Given the description of an element on the screen output the (x, y) to click on. 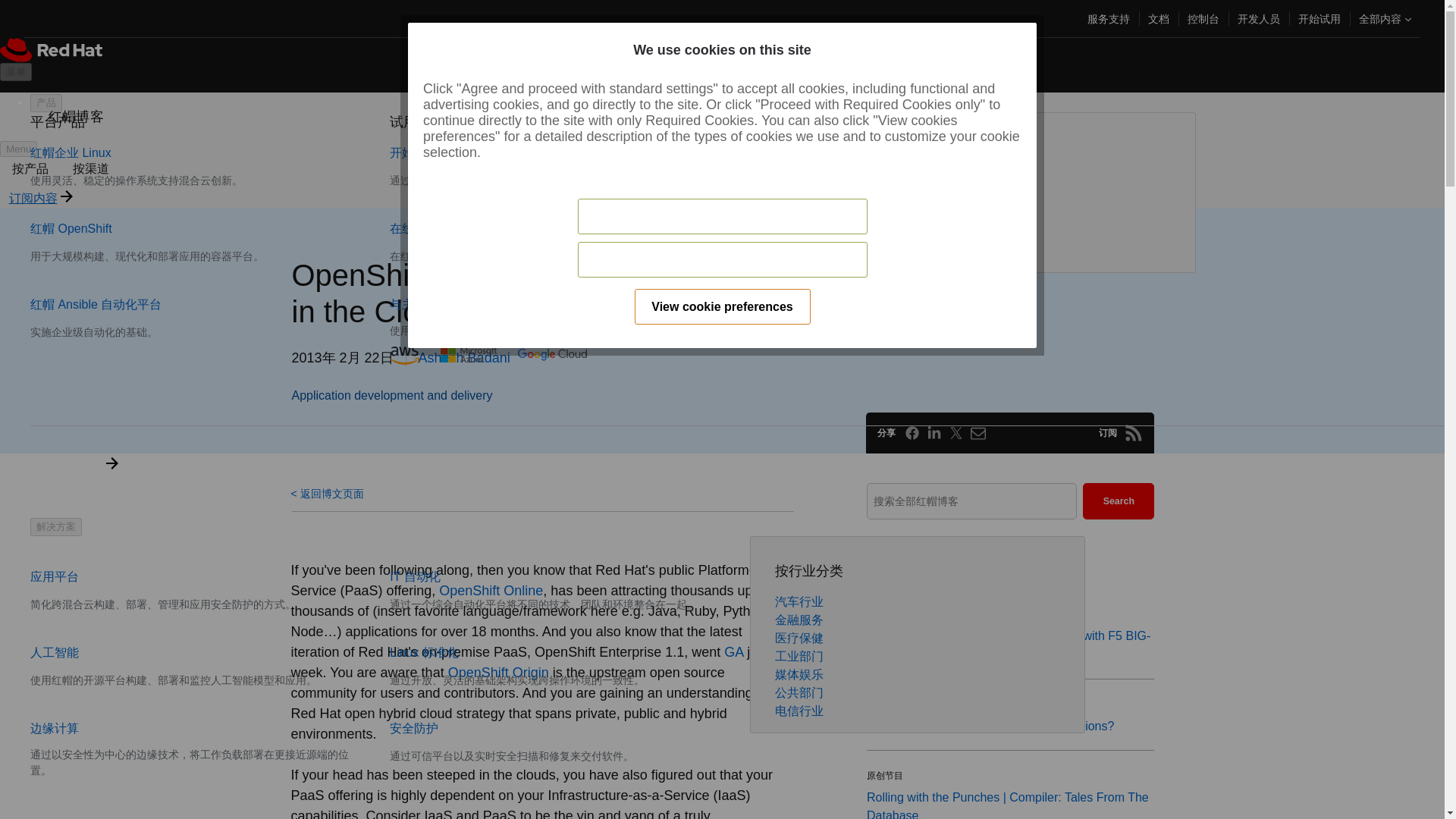
See more by Ashesh Badani (465, 357)
